Given the description of an element on the screen output the (x, y) to click on. 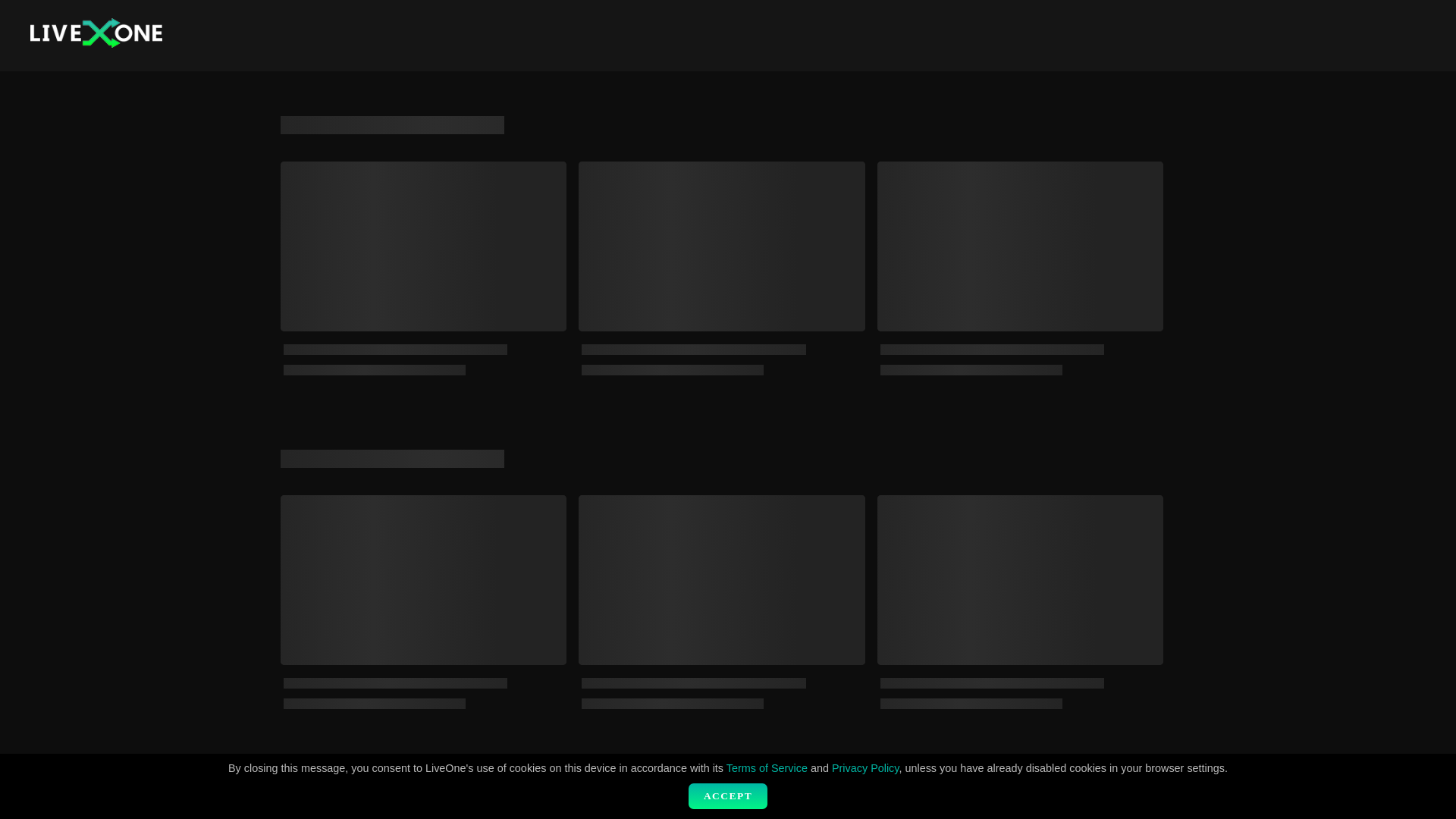
LiveOne on YouTube (1120, 781)
LiveOne on Facebook (1167, 781)
LiveOne on X (1144, 781)
LiveOne on Instagram (1072, 781)
LiveOne on TikTok (1096, 781)
